Given the description of an element on the screen output the (x, y) to click on. 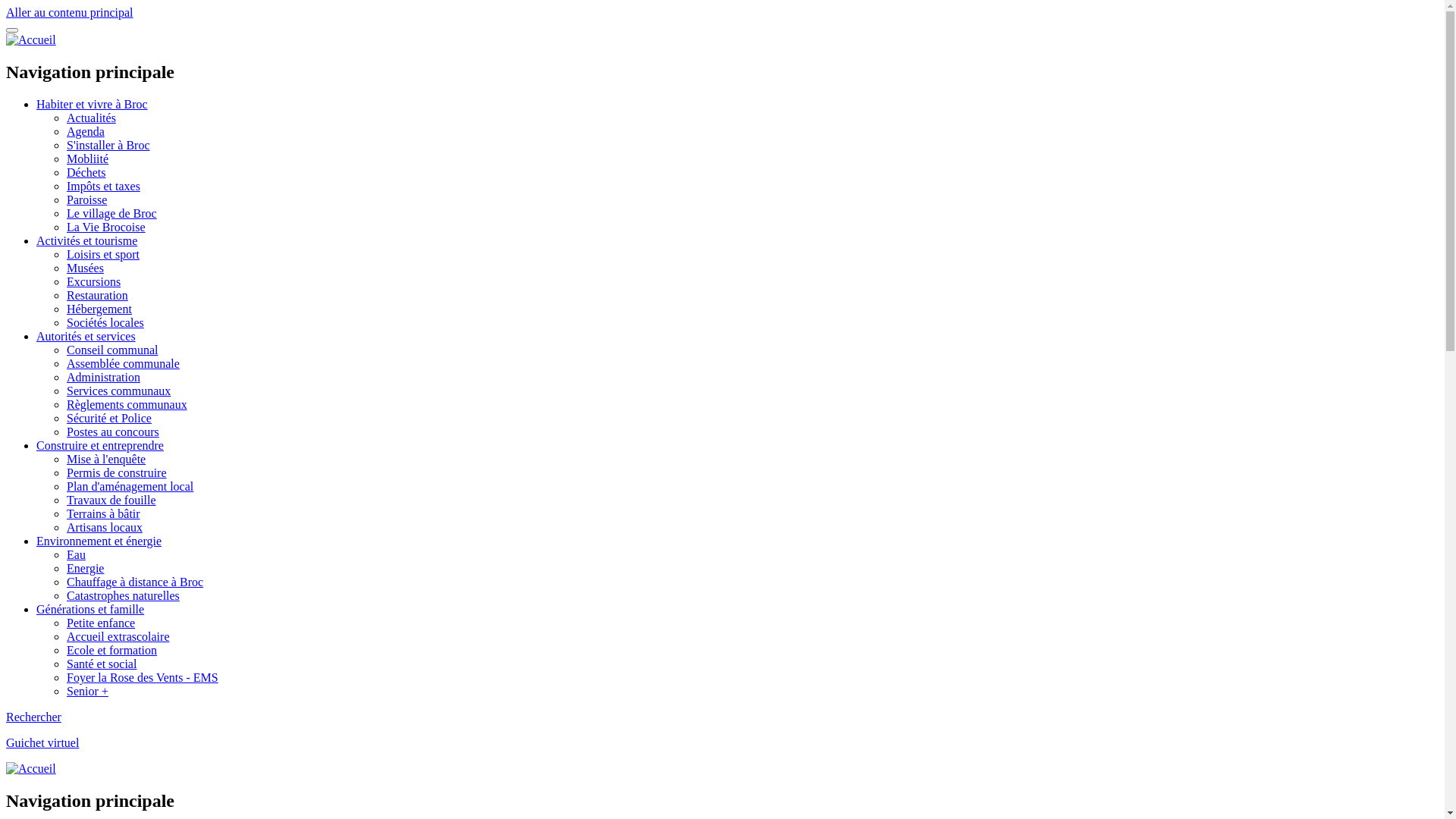
Foyer la Rose des Vents - EMS Element type: text (142, 677)
Rechercher Element type: text (33, 716)
Conseil communal Element type: text (111, 349)
Artisans locaux Element type: text (104, 526)
Aller au contenu principal Element type: text (69, 12)
Paroisse Element type: text (86, 199)
Guichet virtuel Element type: text (42, 742)
Permis de construire Element type: text (116, 472)
Travaux de fouille Element type: text (111, 499)
Services communaux Element type: text (118, 390)
Loisirs et sport Element type: text (102, 253)
La Vie Brocoise Element type: text (105, 226)
Construire et entreprendre Element type: text (99, 445)
Eau Element type: text (75, 554)
Catastrophes naturelles Element type: text (122, 595)
Excursions Element type: text (93, 281)
Accueil extrascolaire Element type: text (117, 636)
Petite enfance Element type: text (100, 622)
Ecole et formation Element type: text (111, 649)
Administration Element type: text (103, 376)
Senior + Element type: text (87, 690)
Le village de Broc Element type: text (111, 213)
Restauration Element type: text (97, 294)
Energie Element type: text (84, 567)
Agenda Element type: text (85, 131)
Postes au concours Element type: text (112, 431)
